Given the description of an element on the screen output the (x, y) to click on. 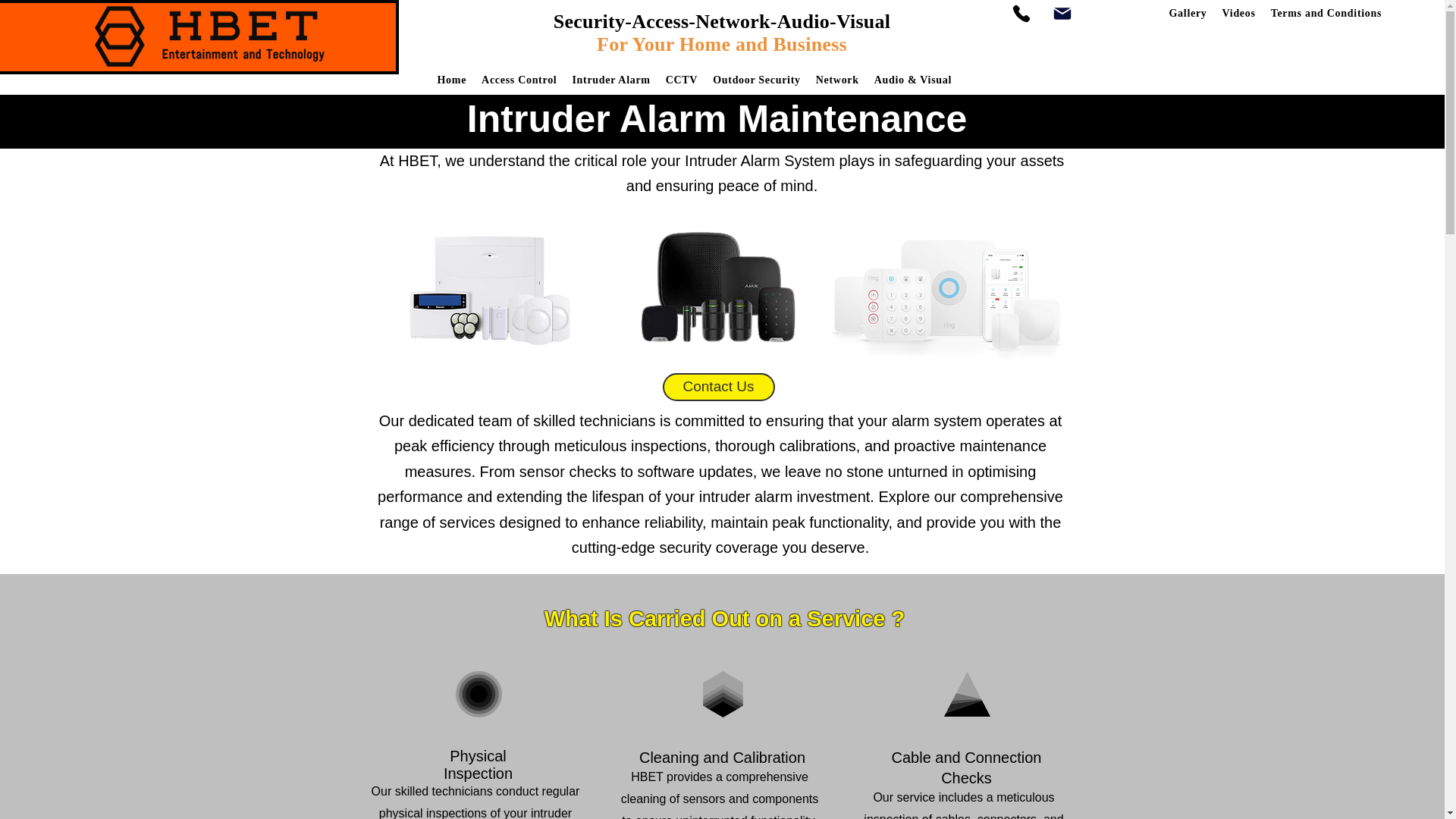
CCTV (681, 80)
Outdoor Security (756, 80)
Intruder Alarm (611, 80)
Home (451, 80)
Access Control (519, 80)
Videos (1238, 13)
Terms and Conditions (1326, 13)
ajax startkit black .png (717, 286)
Contact Us (718, 387)
Network (837, 80)
